Given the description of an element on the screen output the (x, y) to click on. 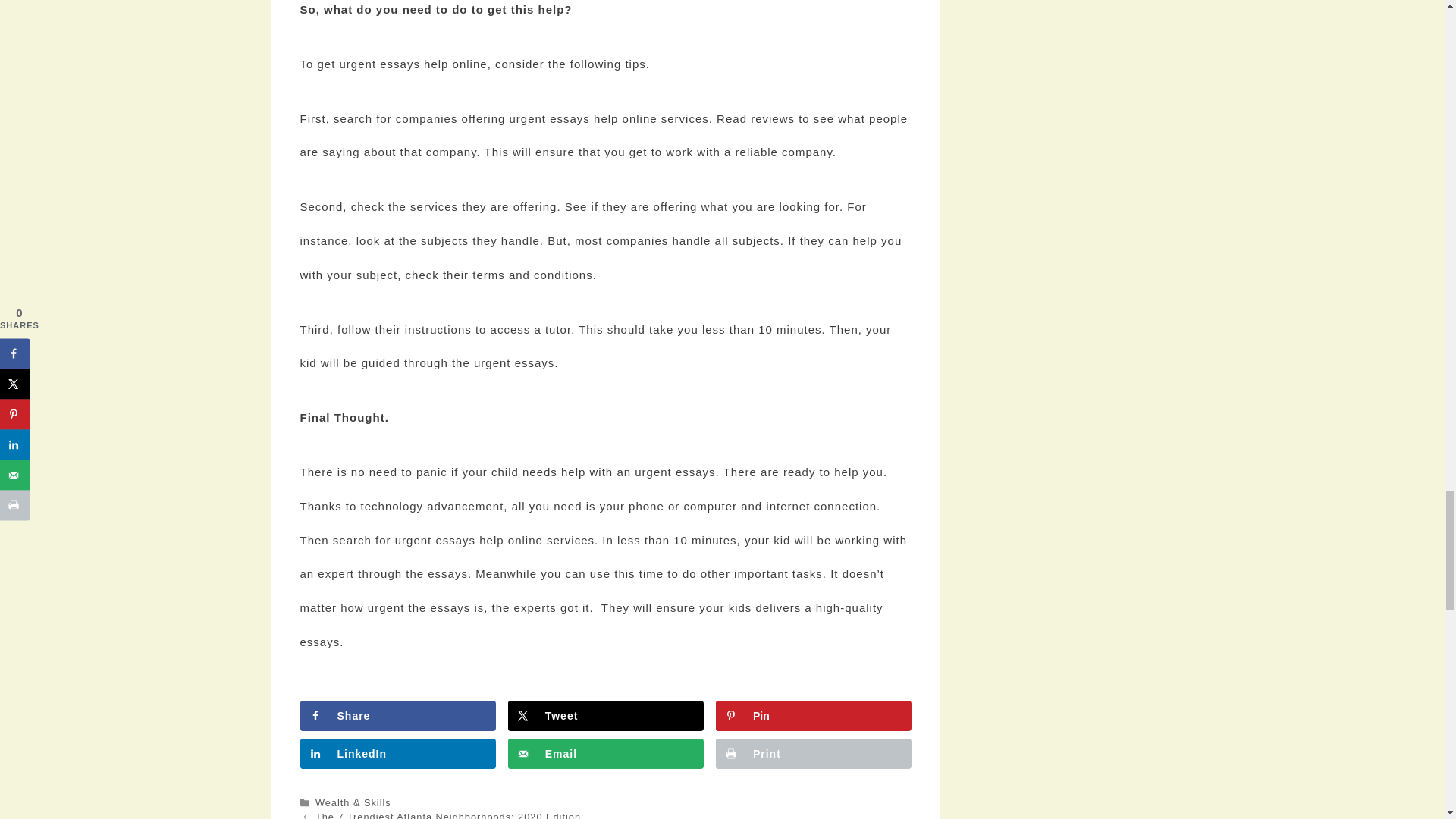
Share on Facebook (397, 716)
Send over email (605, 753)
Share on X (605, 716)
Save to Pinterest (813, 716)
Print this webpage (813, 753)
Share on LinkedIn (397, 753)
